Given the description of an element on the screen output the (x, y) to click on. 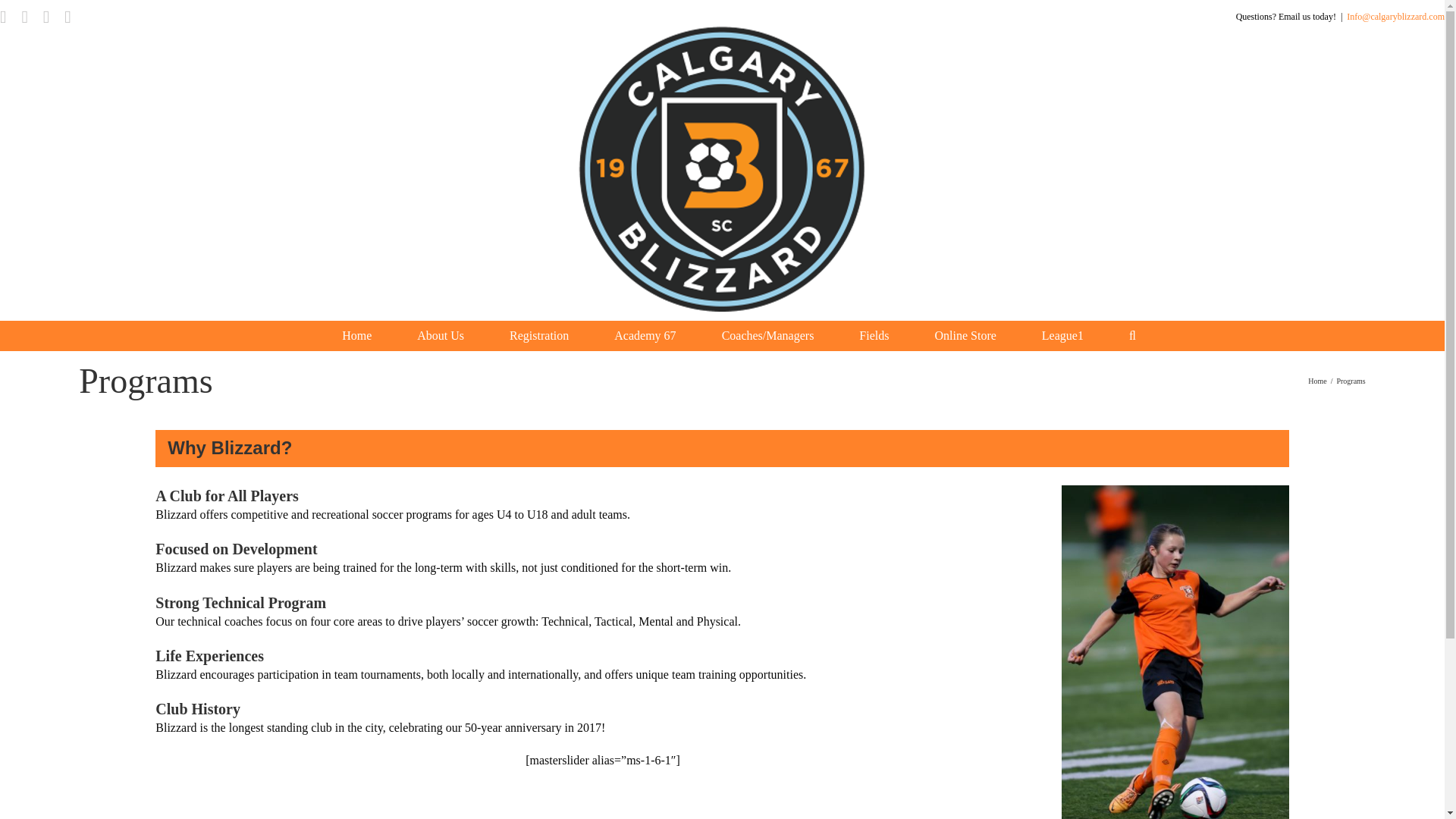
About Us (440, 336)
Academy 67 (644, 336)
Registration (538, 336)
Search (1132, 336)
Home (356, 336)
